Given the description of an element on the screen output the (x, y) to click on. 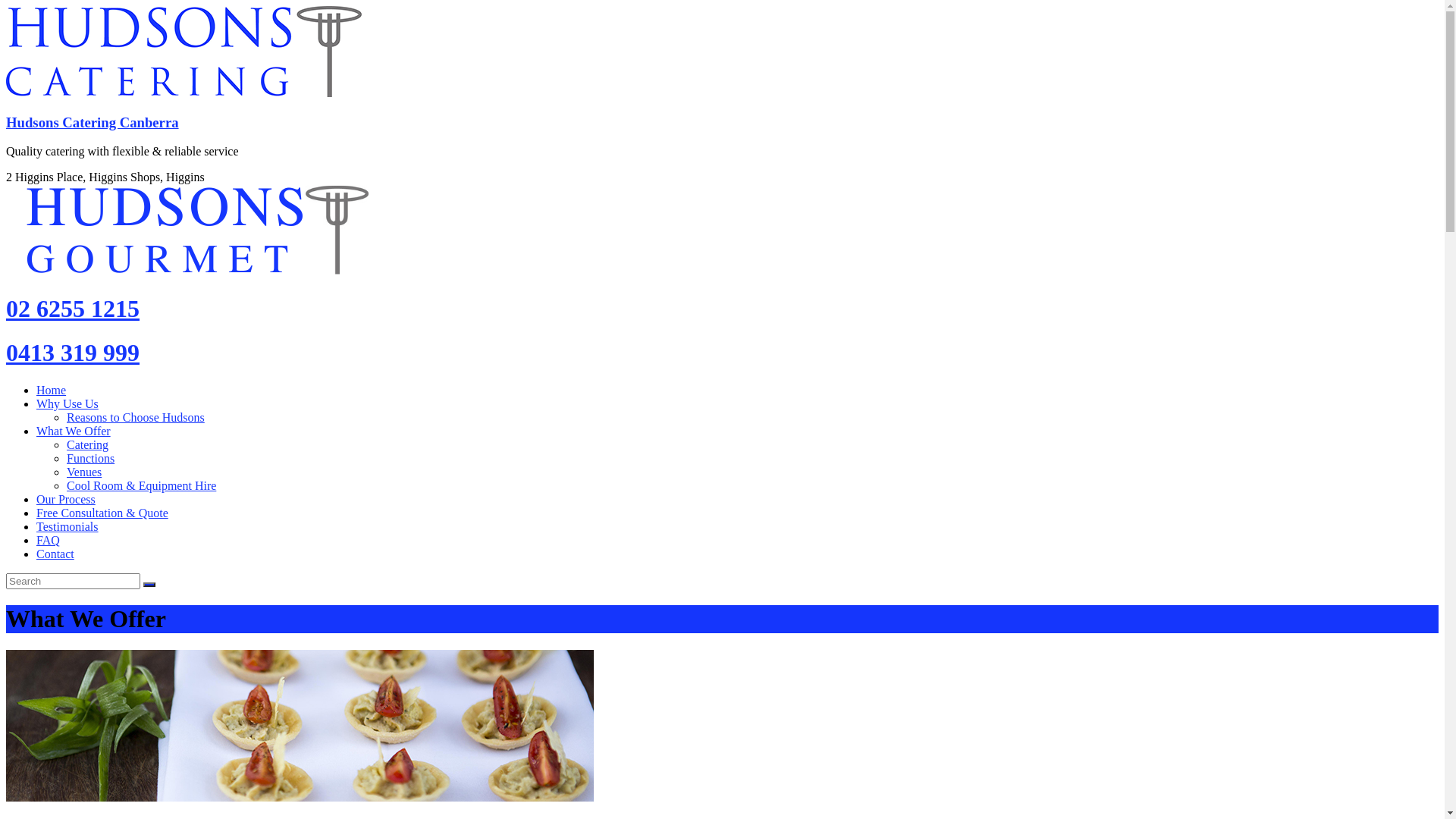
Free Consultation & Quote Element type: text (102, 512)
Home Element type: text (50, 389)
Why Use Us Element type: text (67, 403)
Catering Element type: text (87, 444)
Contact Element type: text (55, 553)
FAQ Element type: text (47, 539)
Cool Room & Equipment Hire Element type: text (141, 485)
0413 319 999 Element type: text (722, 352)
Testimonials Element type: text (67, 526)
Hudsons Catering Canberra Element type: text (92, 122)
Functions Element type: text (90, 457)
Venues Element type: text (83, 471)
Reasons to Choose Hudsons Element type: text (135, 417)
02 6255 1215 Element type: text (722, 308)
Our Process Element type: text (65, 498)
What We Offer Element type: text (73, 430)
